Given the description of an element on the screen output the (x, y) to click on. 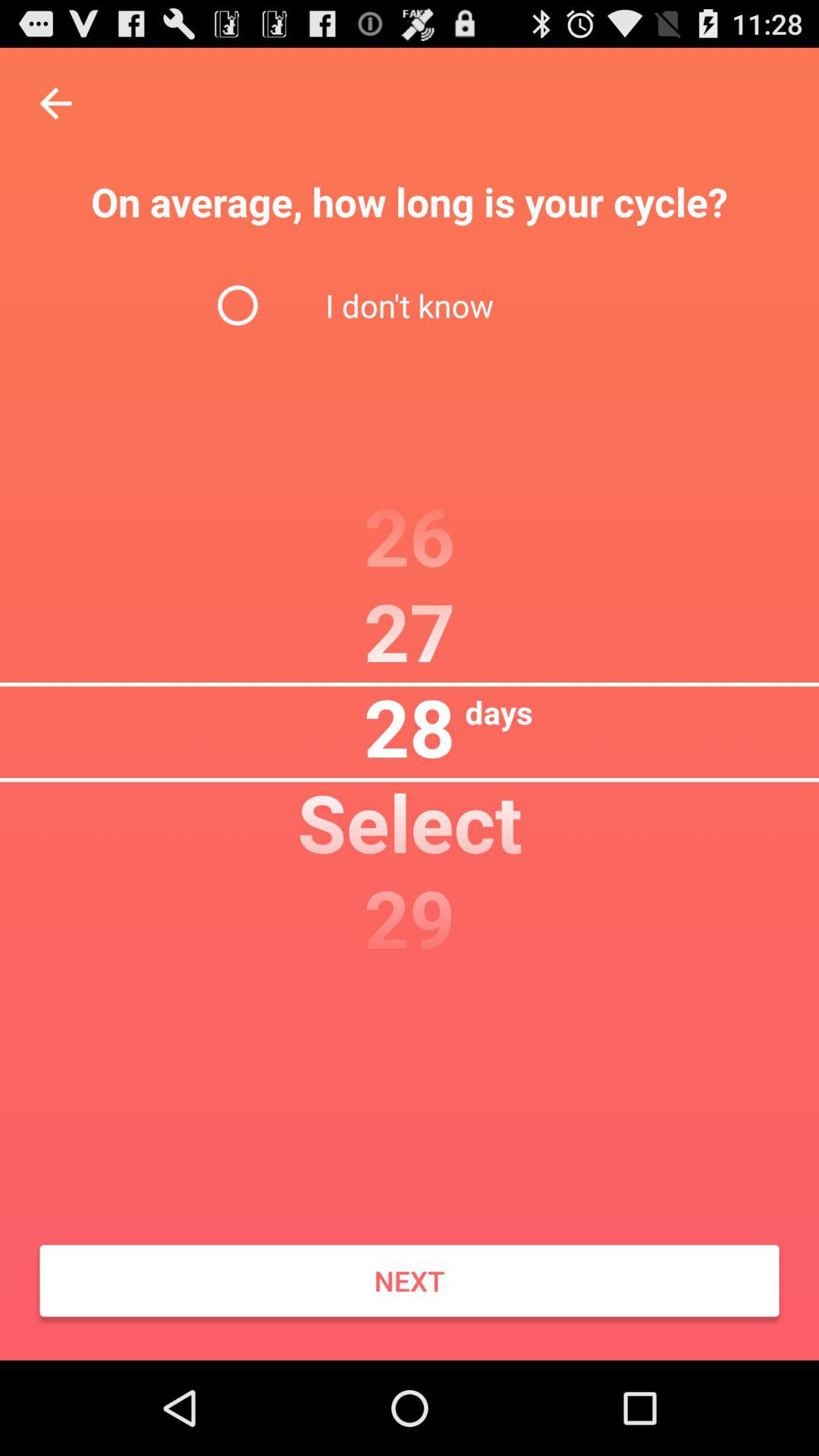
tap item at the top left corner (55, 103)
